Given the description of an element on the screen output the (x, y) to click on. 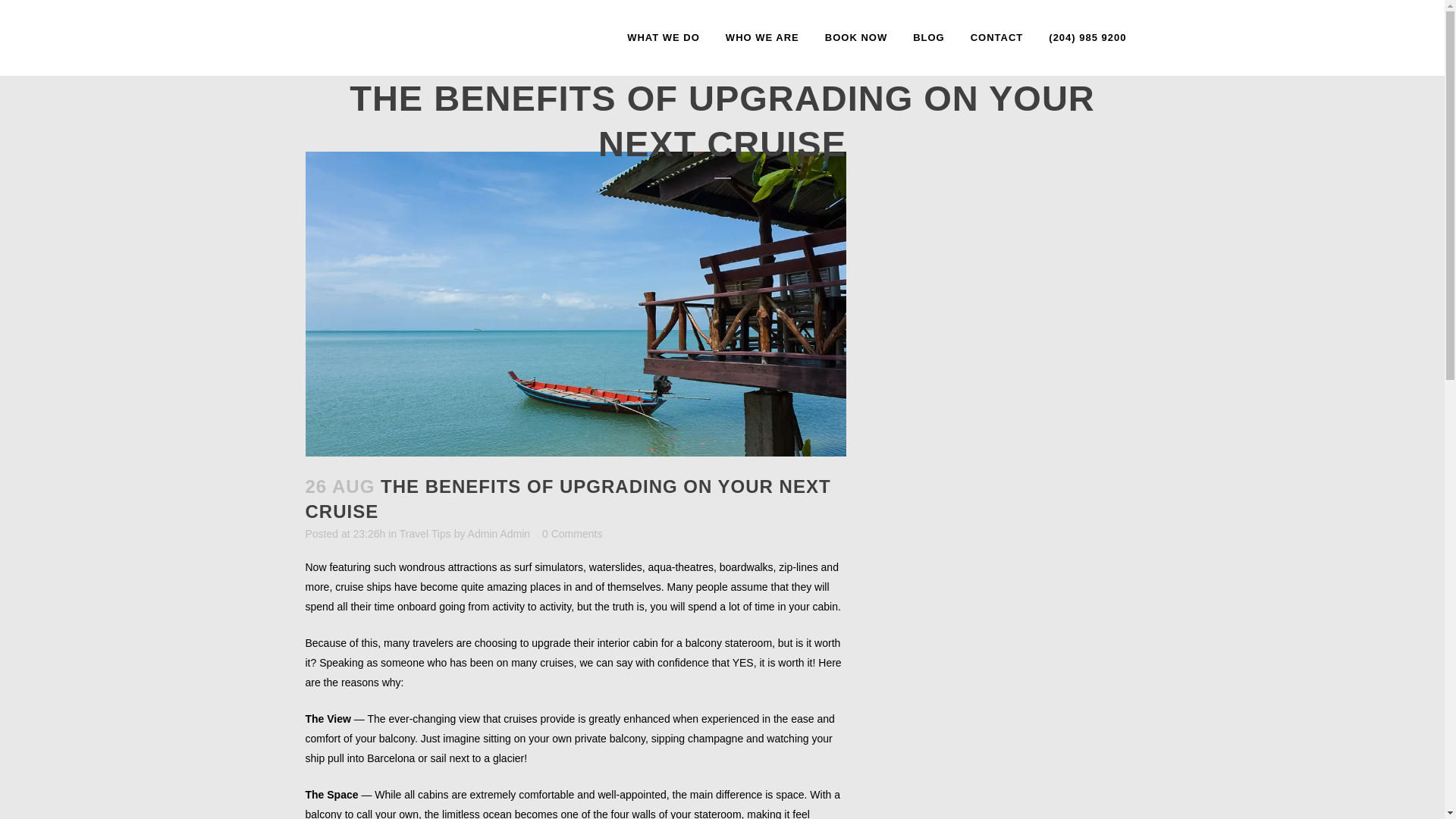
Admin Admin (498, 533)
WHO WE ARE (762, 38)
Travel Tips (424, 533)
BOOK NOW (855, 38)
0 Comments (571, 533)
WHAT WE DO (663, 38)
CONTACT (997, 38)
